Given the description of an element on the screen output the (x, y) to click on. 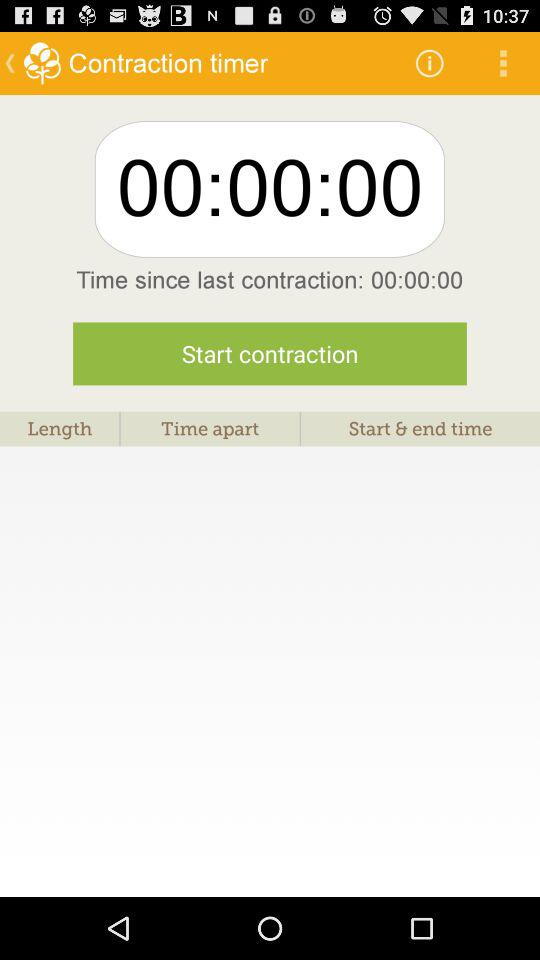
open the icon next to contraction timer icon (429, 62)
